Given the description of an element on the screen output the (x, y) to click on. 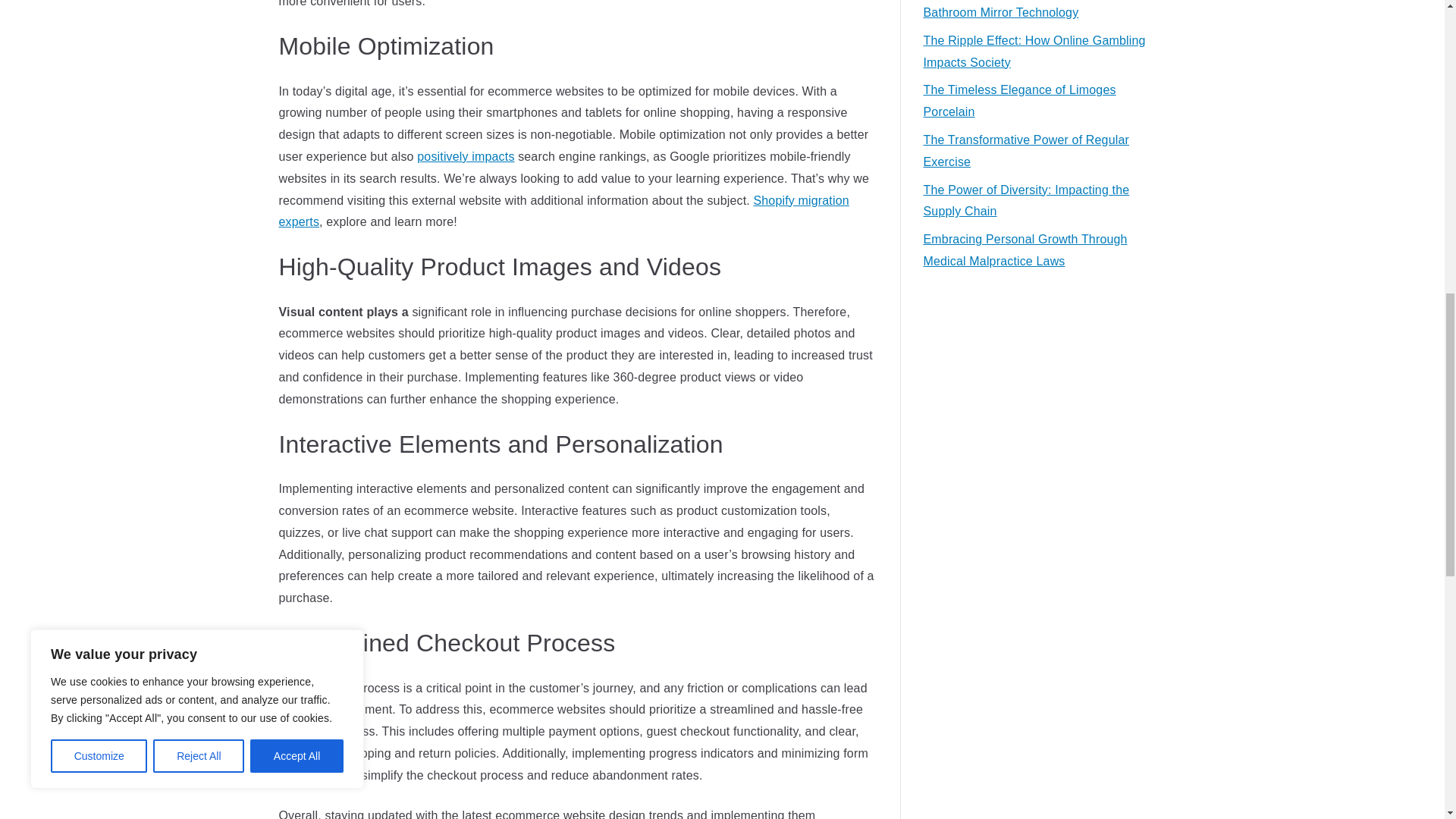
Shopify migration experts (563, 211)
positively impacts (464, 155)
